Given the description of an element on the screen output the (x, y) to click on. 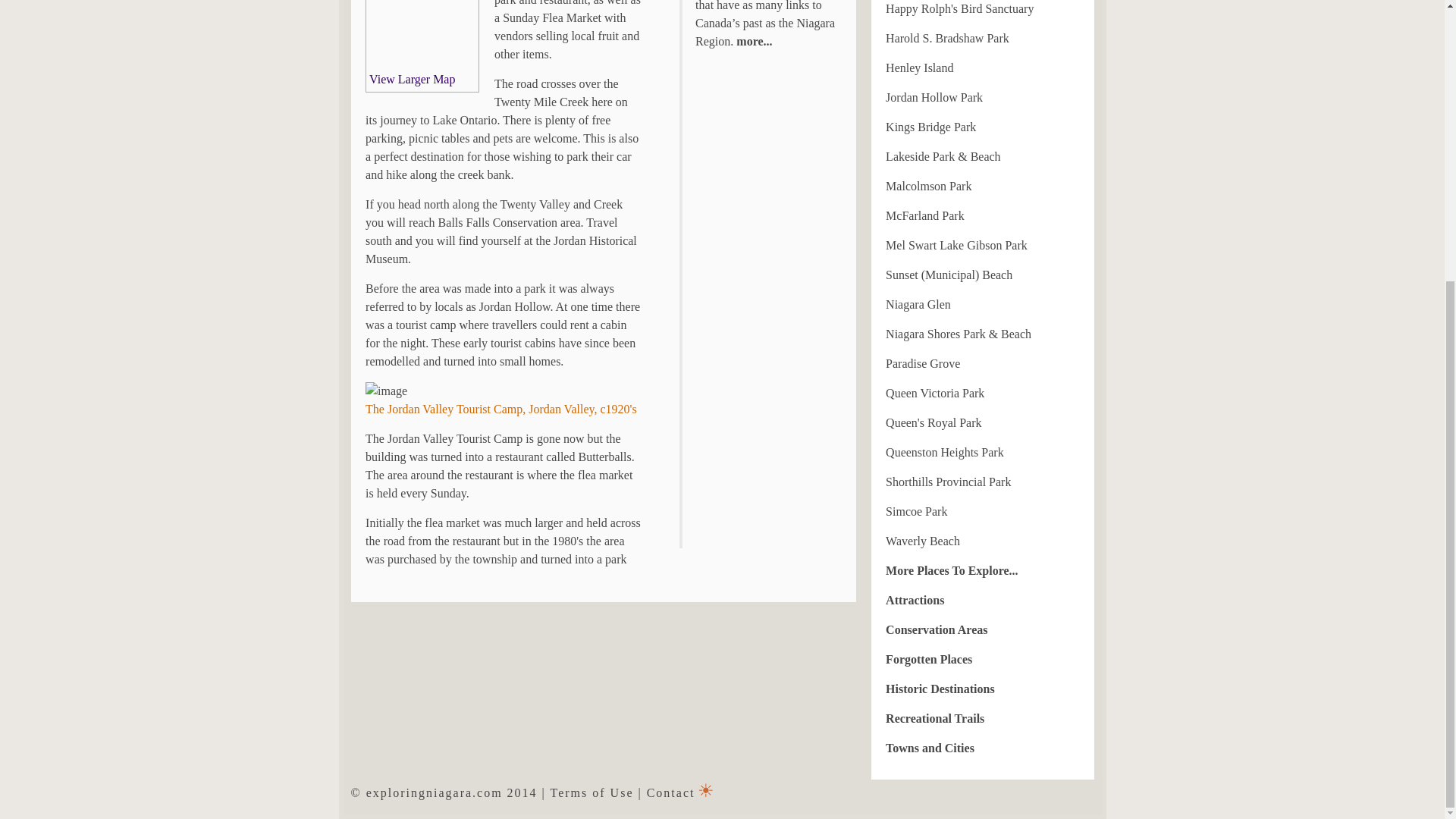
Mel Swart Lake Gibson Park (956, 245)
more... (752, 41)
Niagara Glen (917, 304)
McFarland Park (924, 215)
Henley Island (919, 67)
View Larger Map (411, 78)
Paradise Grove (922, 363)
Malcolmson Park (928, 185)
Harold S. Bradshaw Park (947, 38)
Happy Rolph's Bird Sanctuary (959, 8)
